Given the description of an element on the screen output the (x, y) to click on. 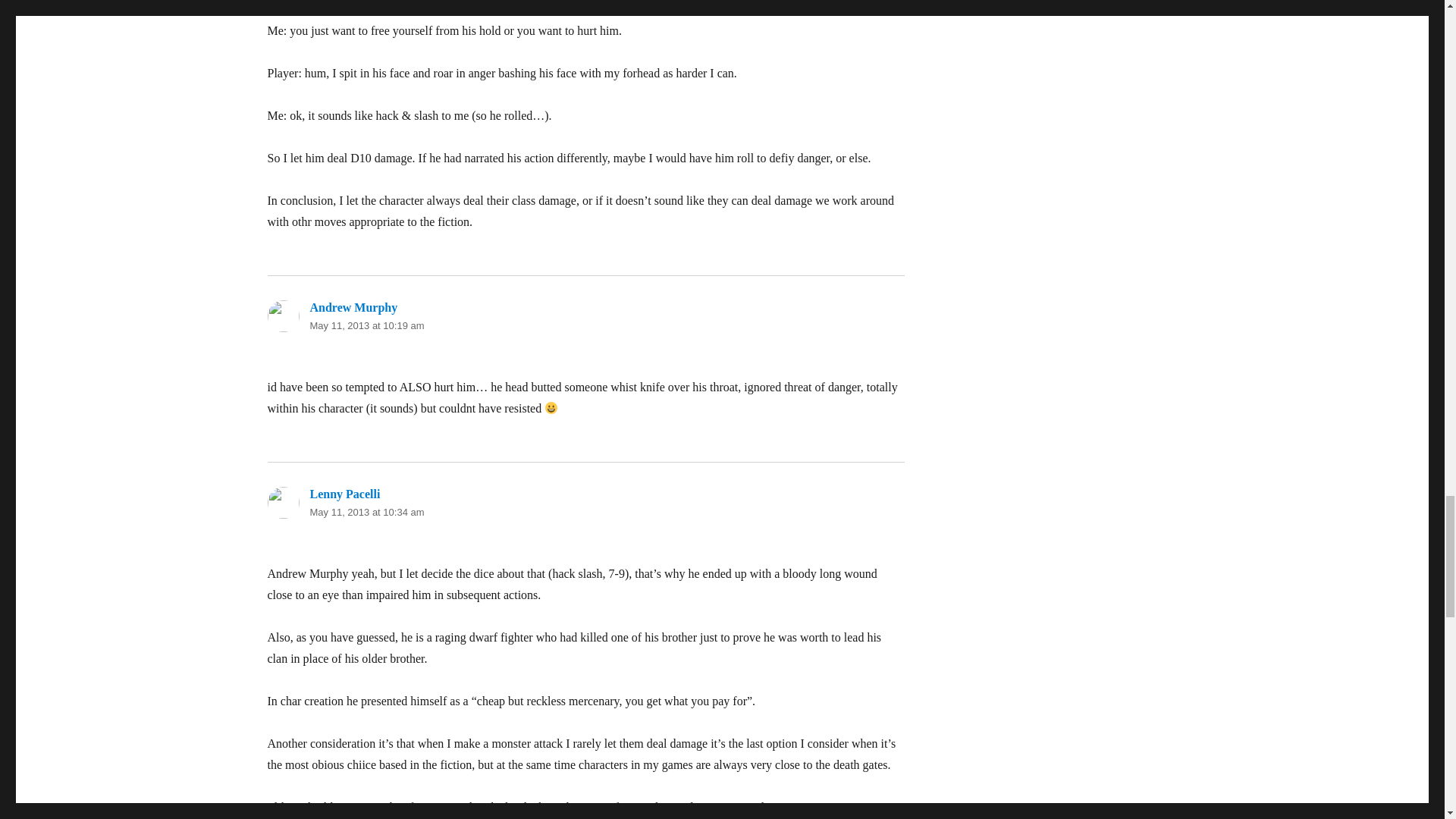
Lenny Pacelli (344, 493)
May 11, 2013 at 10:34 am (365, 511)
Andrew Murphy (352, 307)
May 11, 2013 at 10:19 am (365, 325)
